Given the description of an element on the screen output the (x, y) to click on. 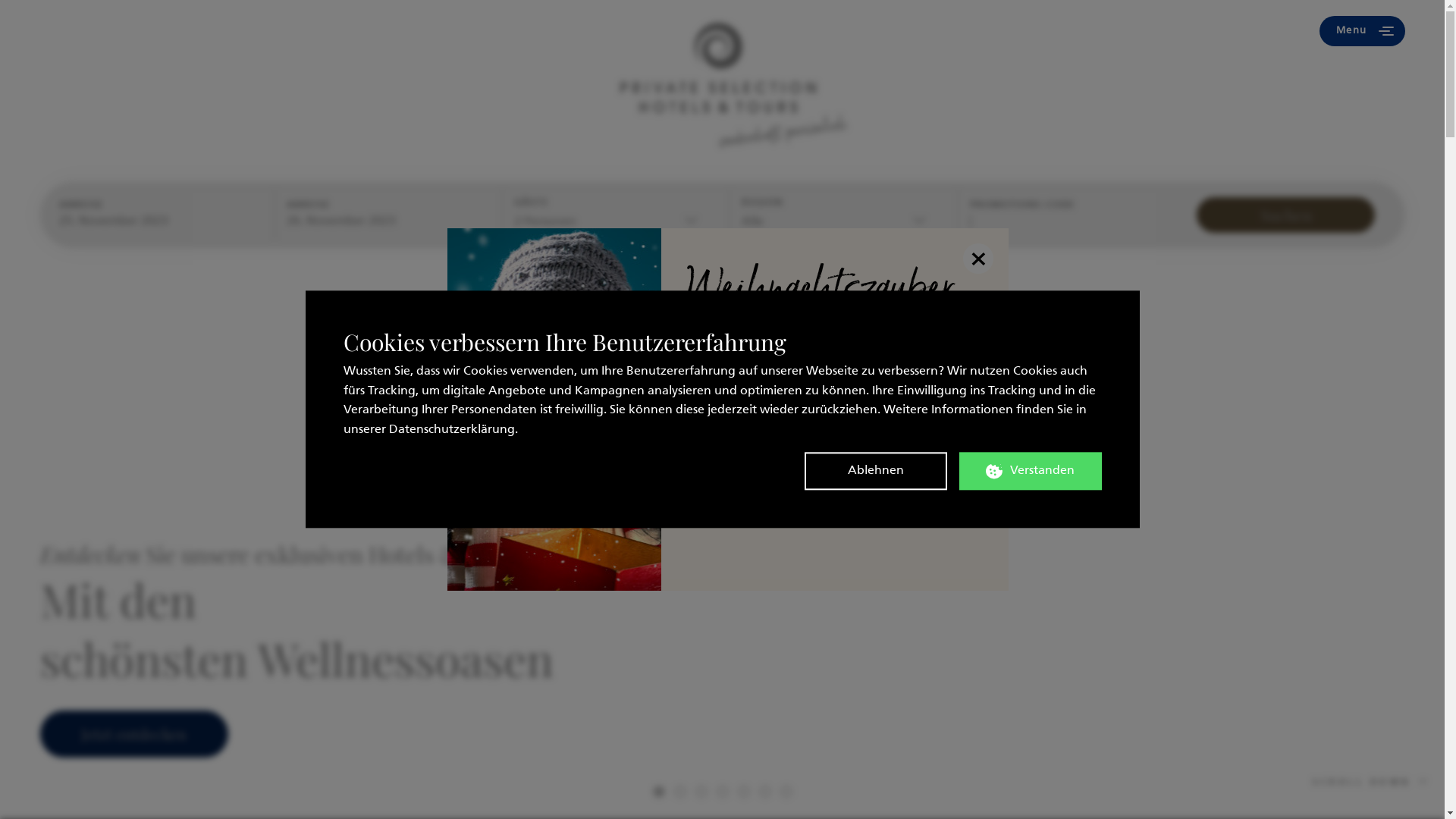
Verstanden Element type: text (1029, 471)
Menu Element type: text (1362, 30)
Jetzt entdecken Element type: text (133, 733)
Unsere Hotels
in Europa Element type: text (143, 30)
Gutscheine Element type: text (548, 30)
SCROLL DOWN Element type: text (1371, 782)
Ihr Login Element type: text (1154, 30)
zu den Gutscheinen Element type: text (834, 493)
Suchen Element type: text (1285, 214)
Buchen Element type: text (316, 30)
Ablehnen Element type: text (874, 471)
